Given the description of an element on the screen output the (x, y) to click on. 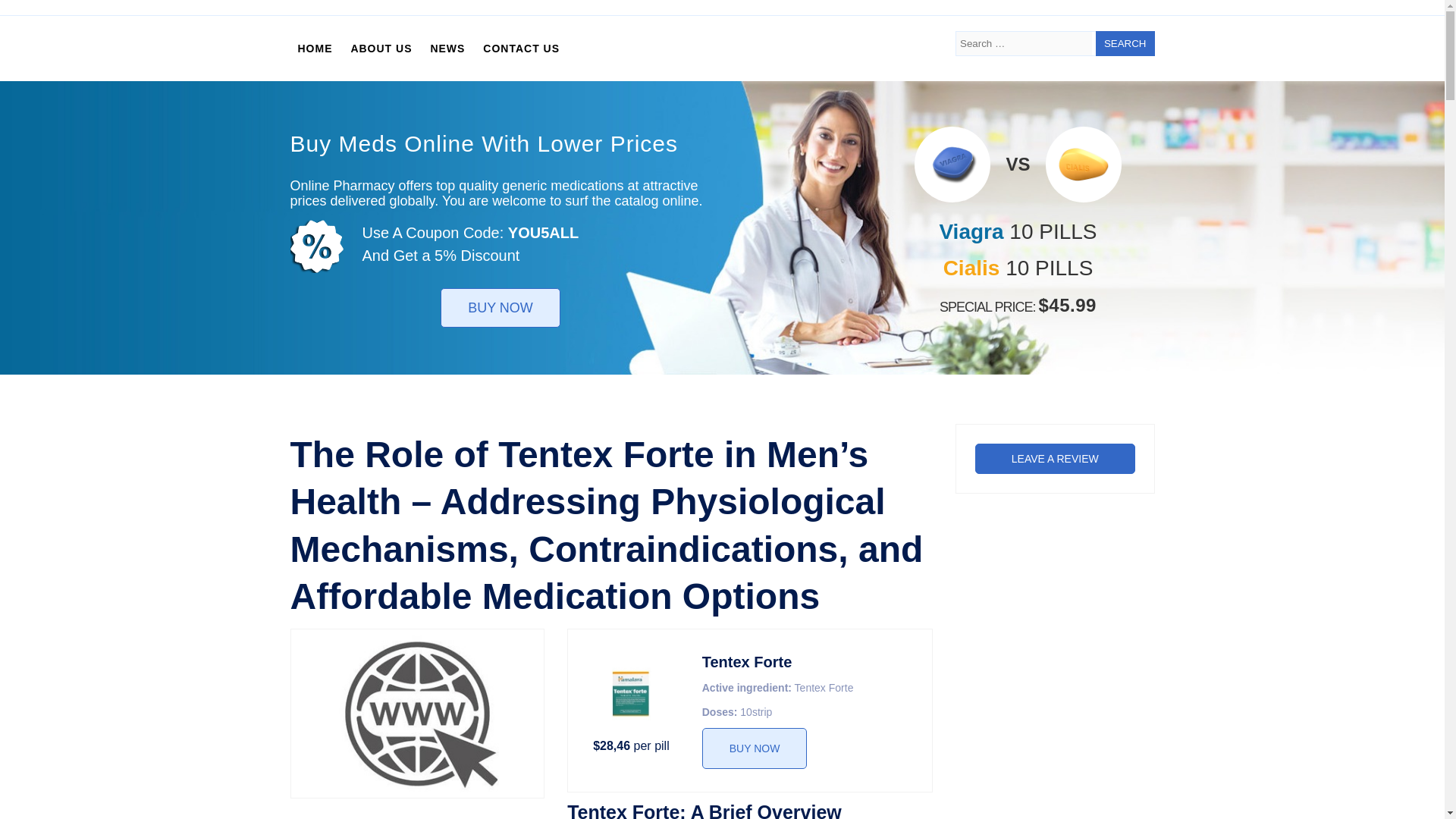
NEWS (446, 48)
LEAVE A REVIEW (1055, 458)
Buy Now (754, 748)
SEARCH (1125, 43)
BUY NOW (754, 748)
Leave a Review (1055, 458)
HOME (314, 48)
ABOUT US (380, 48)
CONTACT US (521, 48)
